Given the description of an element on the screen output the (x, y) to click on. 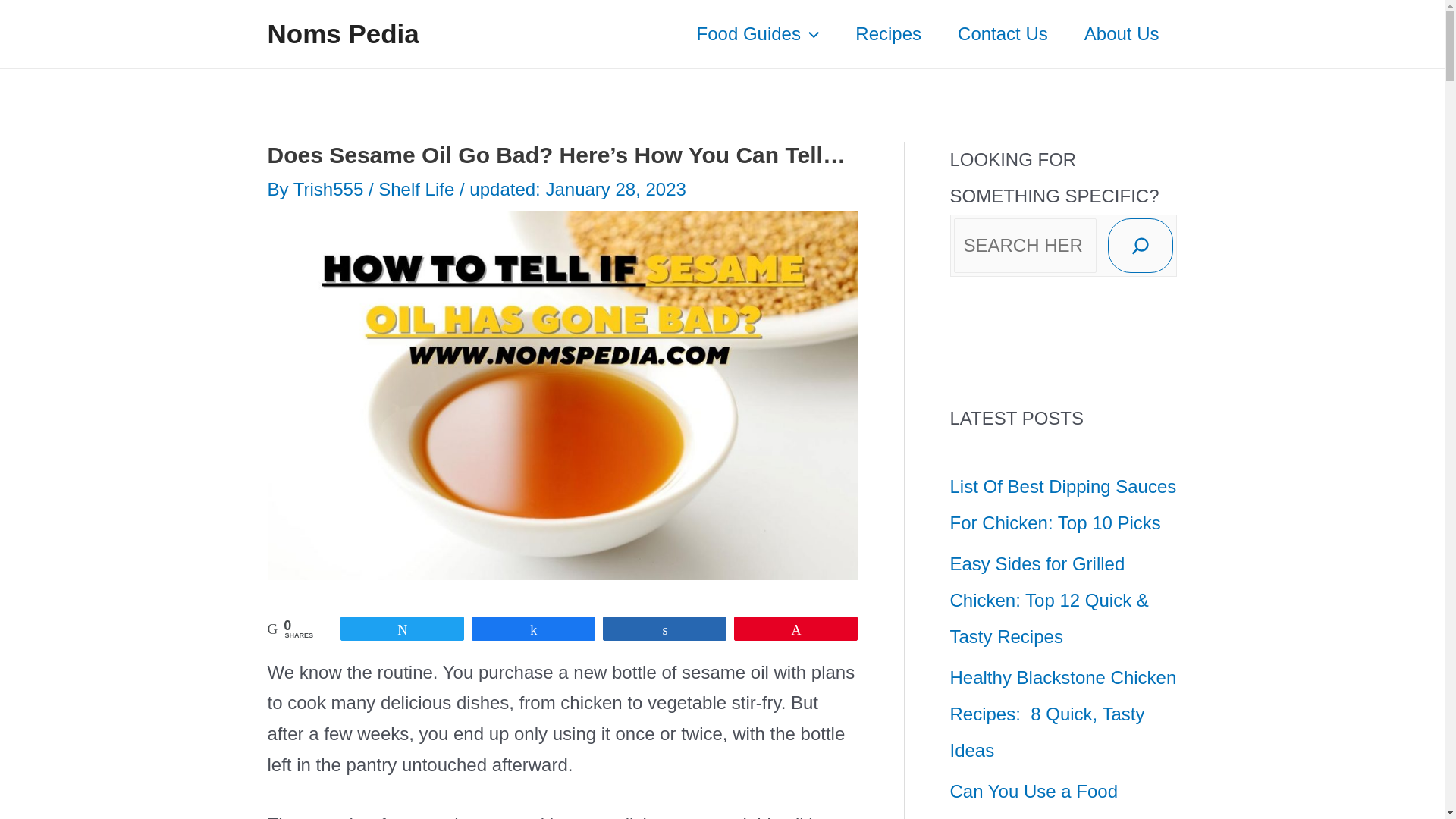
Contact Us (1002, 33)
About Us (1121, 33)
Trish555 (331, 189)
Recipes (888, 33)
View all posts by Trish555 (331, 189)
Food Guides (758, 33)
Noms Pedia (342, 33)
Shelf Life (416, 189)
